Given the description of an element on the screen output the (x, y) to click on. 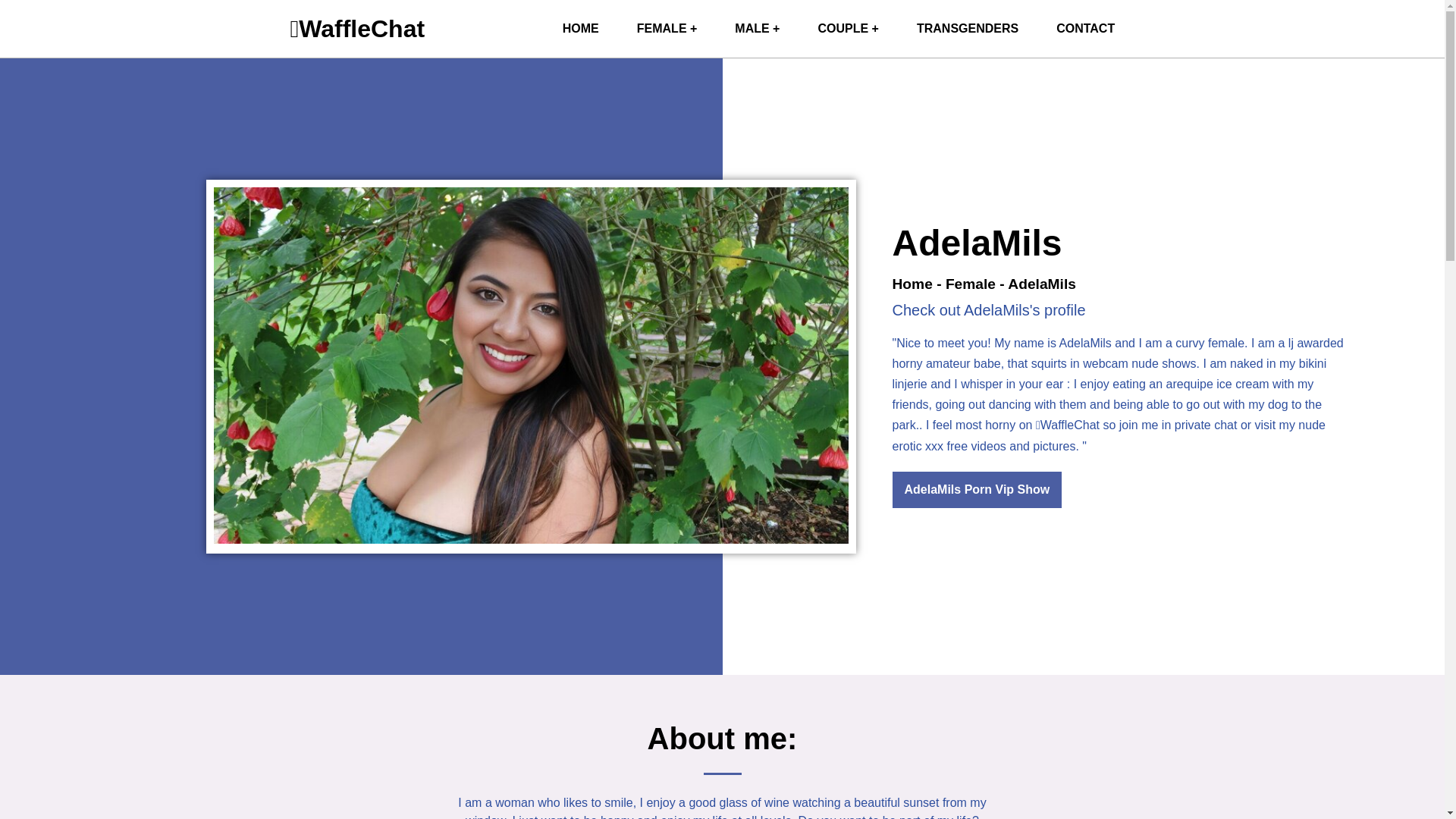
HOME (580, 28)
Transgenders (967, 28)
TRANSGENDERS (967, 28)
CONTACT (1086, 28)
Female (969, 283)
?WaffleChat (580, 28)
Home (911, 283)
Contact (1086, 28)
AdelaMils Porn Vip Show (976, 489)
?WaffleChat (357, 28)
